Given the description of an element on the screen output the (x, y) to click on. 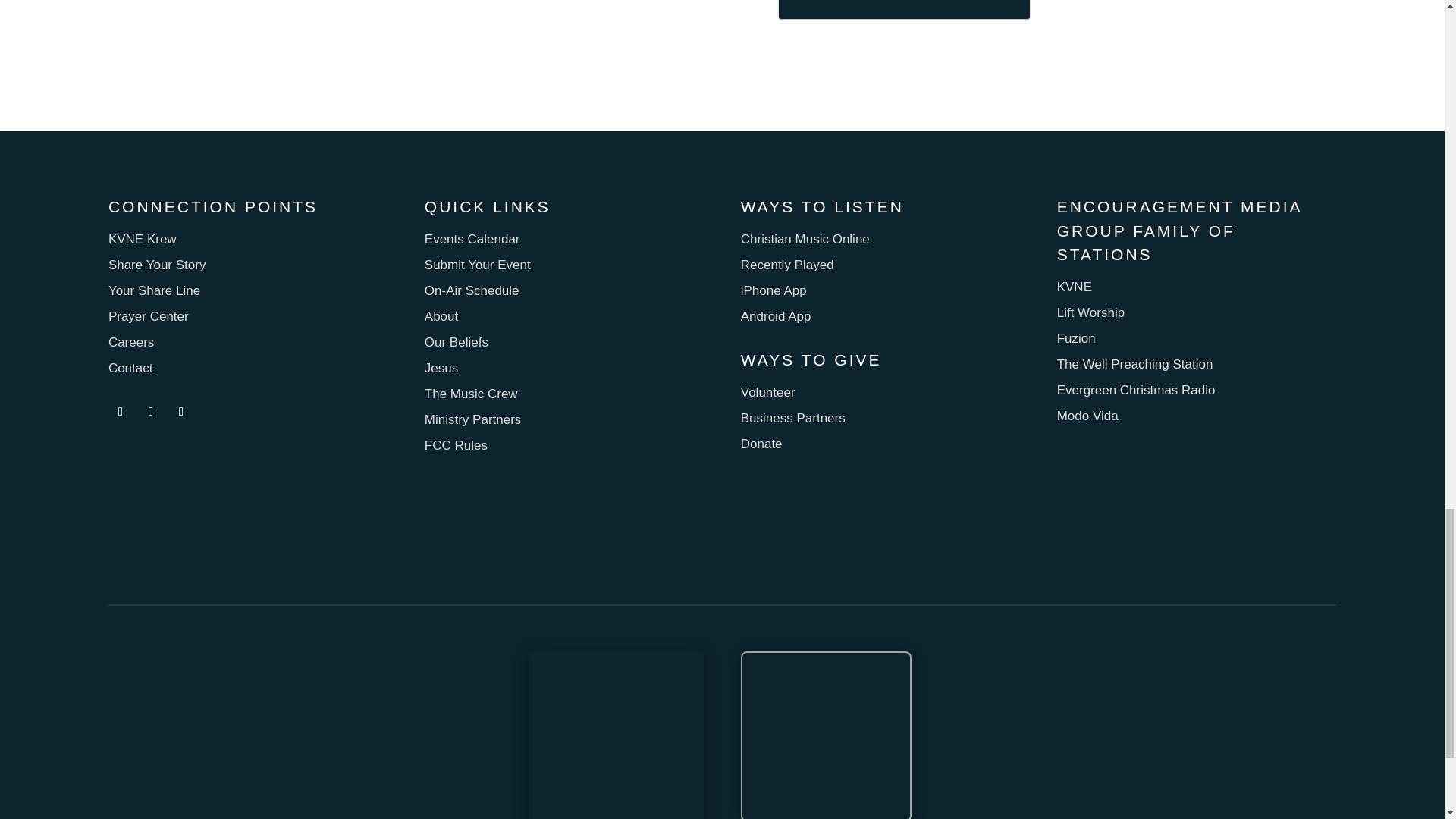
Follow on Vimeo (180, 411)
Follow on Instagram (150, 411)
Follow on Facebook (119, 411)
